Given the description of an element on the screen output the (x, y) to click on. 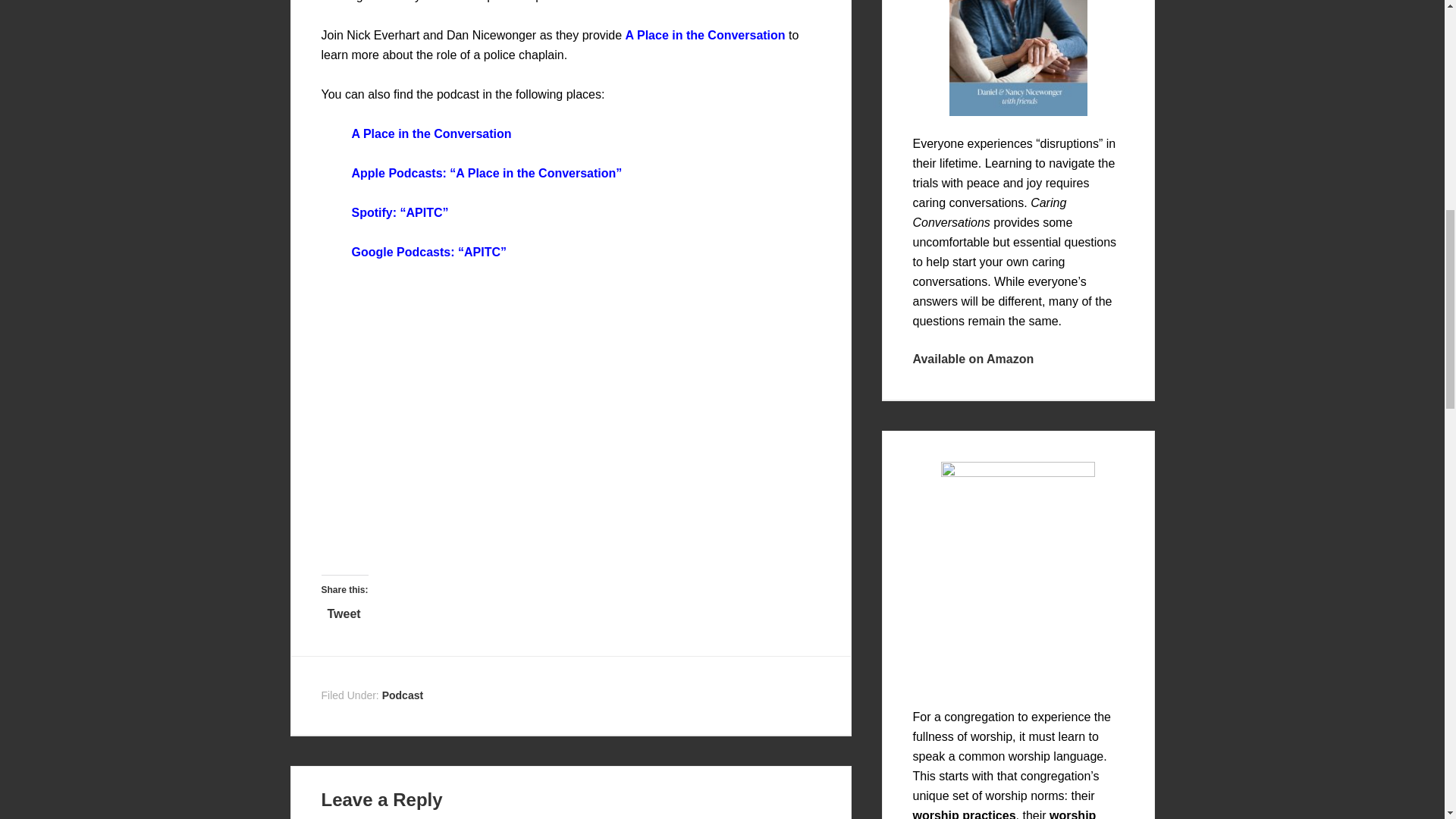
A Place in the Conversation (432, 133)
Tweet (344, 611)
A Place in the Conversation (706, 34)
Podcast (402, 695)
Available on Amazon (972, 358)
